Given the description of an element on the screen output the (x, y) to click on. 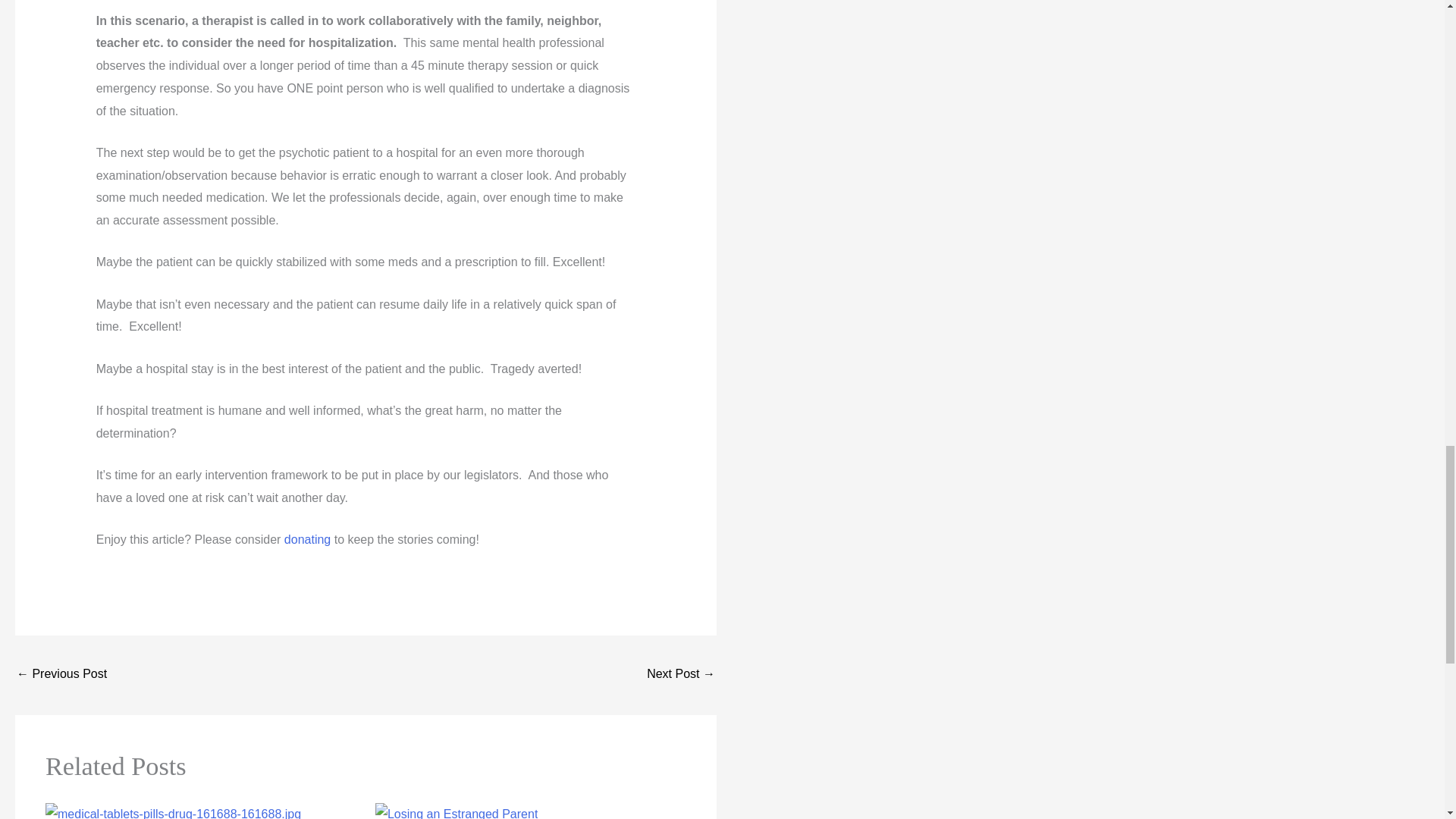
Shoot In The Dark (680, 674)
donating (306, 539)
Can I Hold Your Hand? (61, 674)
